Given the description of an element on the screen output the (x, y) to click on. 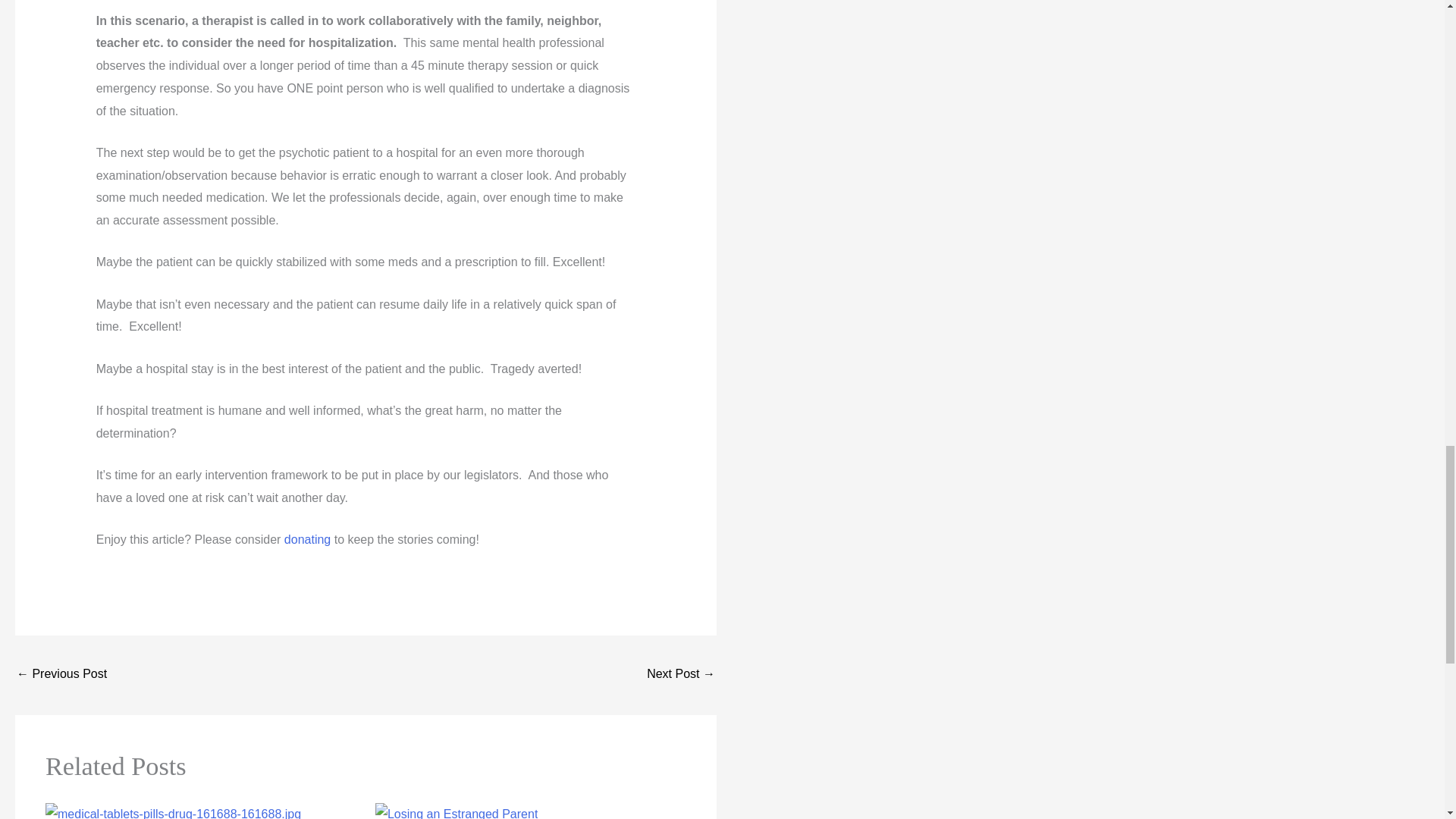
Shoot In The Dark (680, 674)
donating (306, 539)
Can I Hold Your Hand? (61, 674)
